Given the description of an element on the screen output the (x, y) to click on. 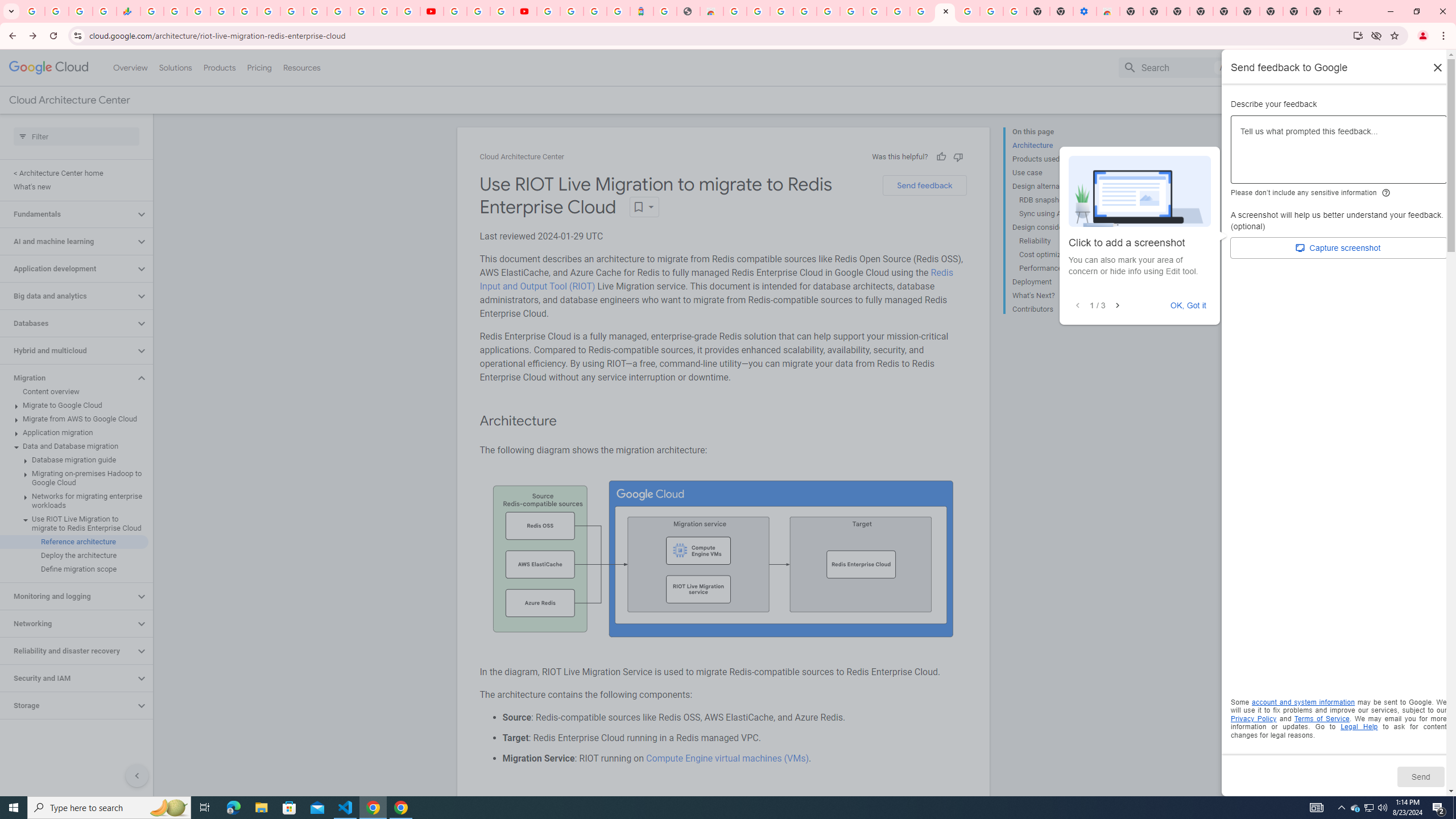
Reliability (1062, 241)
Type to filter (76, 136)
Big data and analytics (67, 296)
Databases (67, 323)
Cloud Architecture Center (521, 156)
What's new (74, 187)
OK, Got it (1188, 305)
YouTube (454, 11)
Docs, selected (1264, 67)
